Given the description of an element on the screen output the (x, y) to click on. 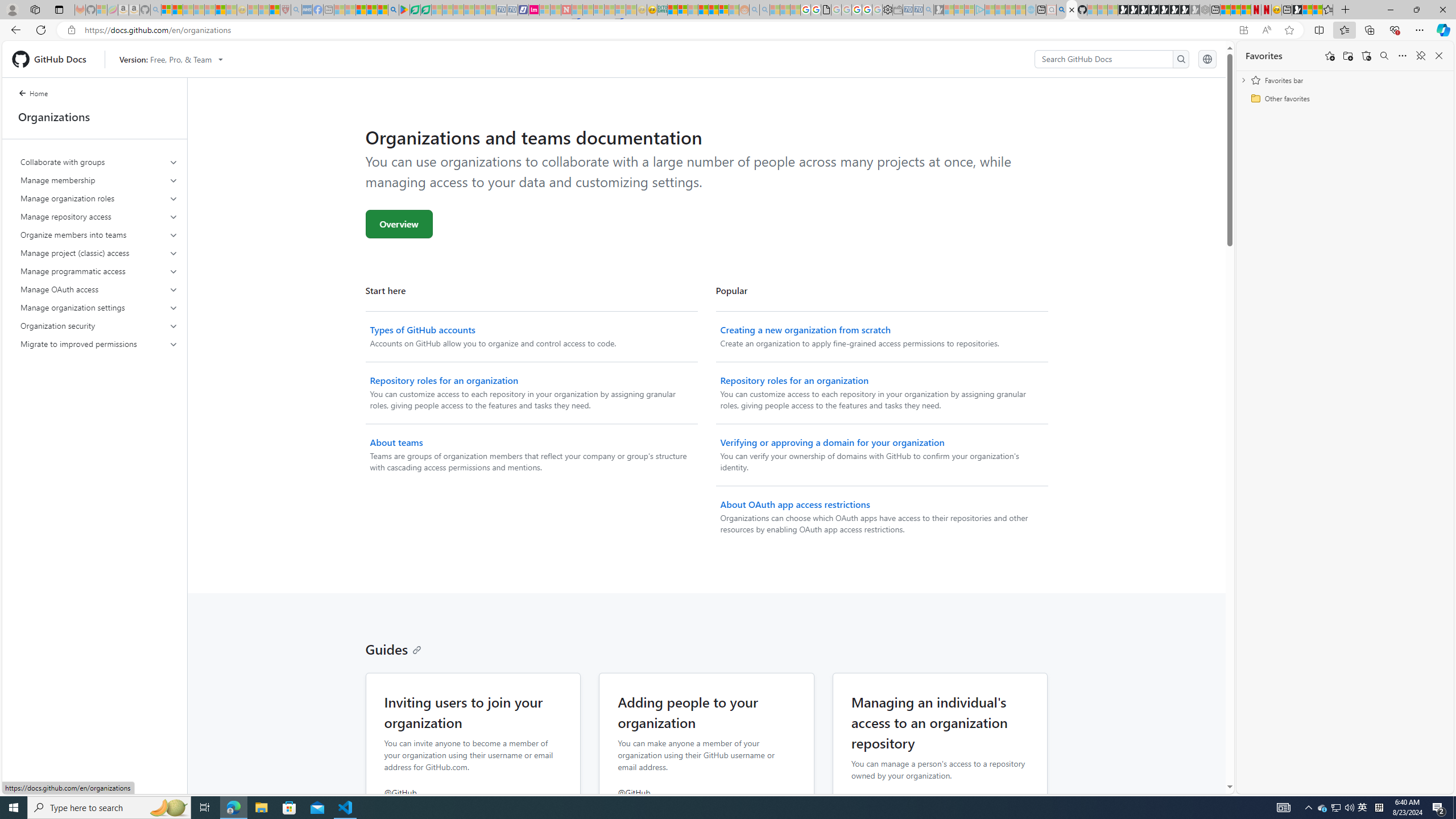
Add folder (1347, 55)
Overview (398, 223)
Manage repository access (99, 216)
